Given the description of an element on the screen output the (x, y) to click on. 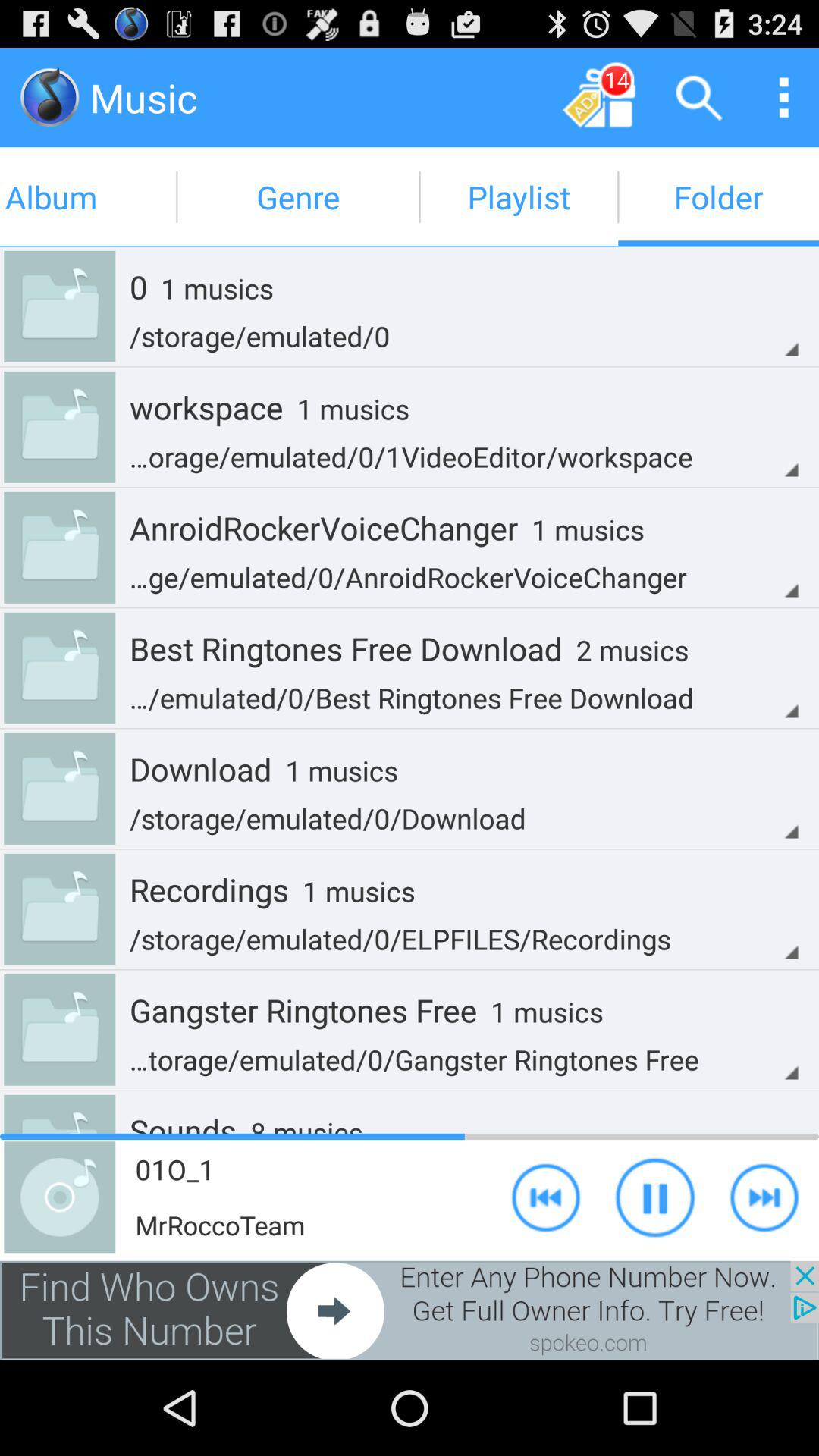
next (545, 1196)
